Given the description of an element on the screen output the (x, y) to click on. 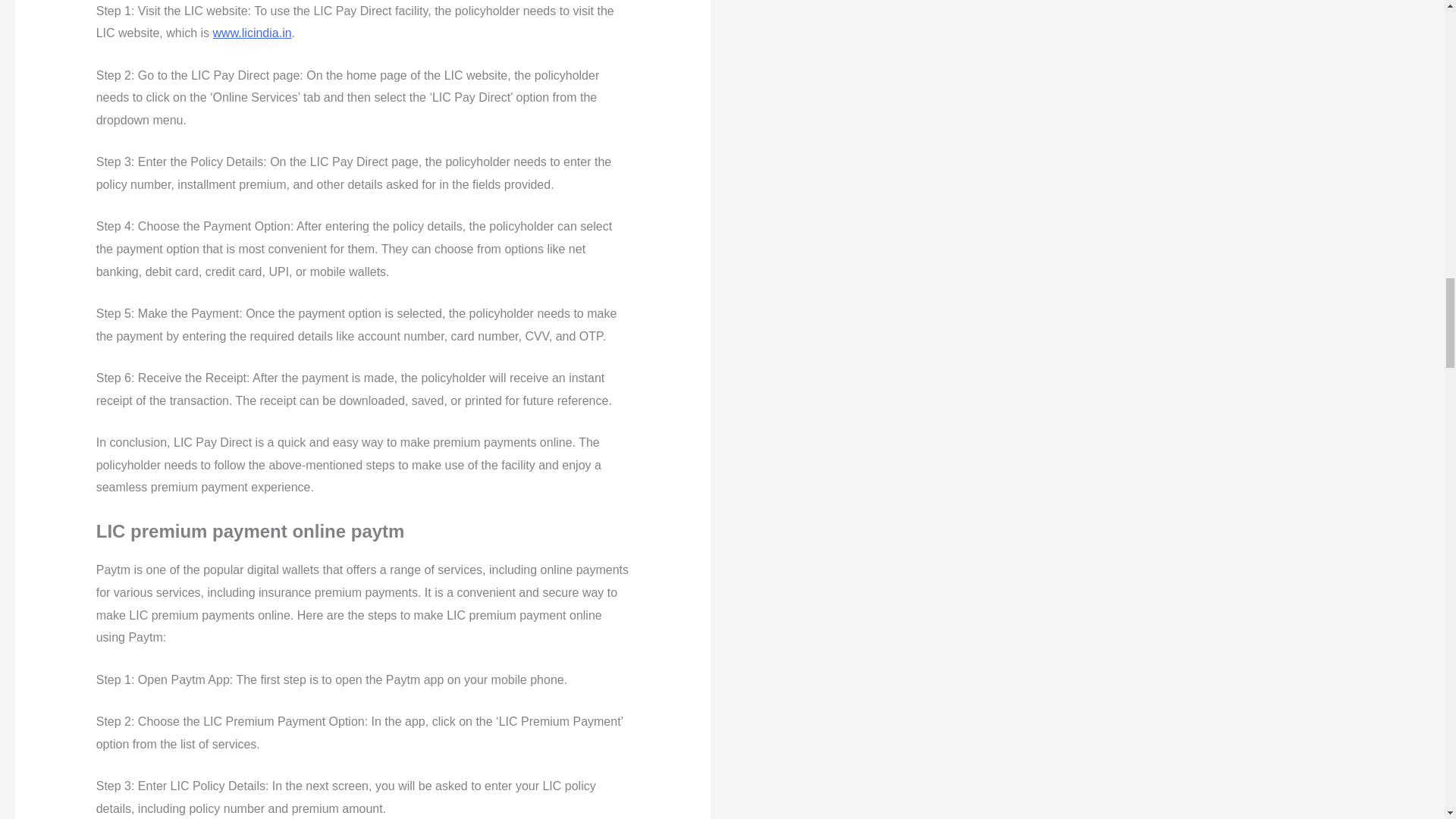
www.licindia.in (252, 32)
